Given the description of an element on the screen output the (x, y) to click on. 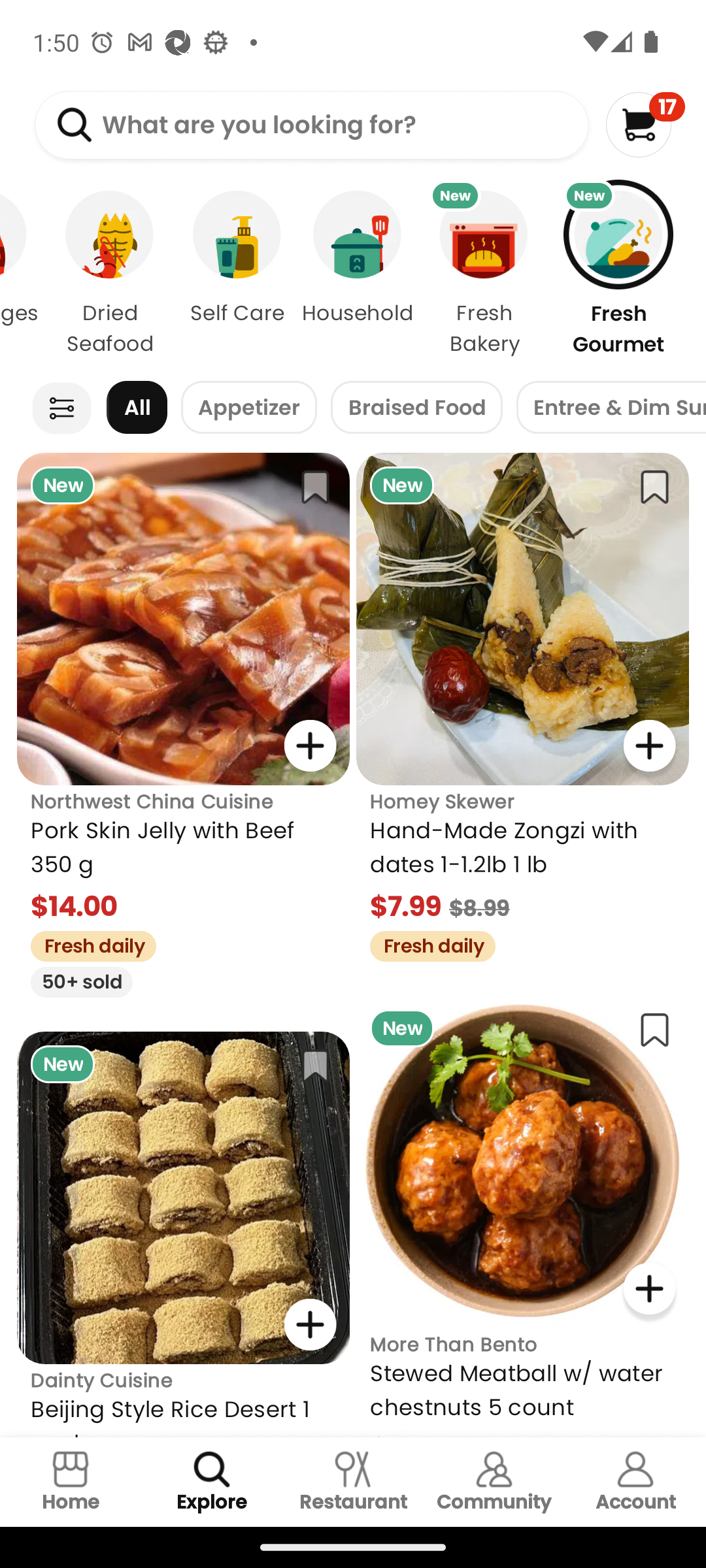
What are you looking for? (311, 124)
17 (644, 124)
Dried Seafood (110, 273)
Self Care (237, 273)
Household (357, 273)
New Fresh Bakery (484, 273)
New Fresh Gourmet (628, 273)
All (136, 407)
Appetizer (248, 407)
Braised Food (416, 407)
Entree & Dim Sum (611, 407)
Fresh daily (86, 943)
Fresh daily (425, 943)
Home (70, 1482)
Explore (211, 1482)
Restaurant (352, 1482)
Community (493, 1482)
Account (635, 1482)
